Given the description of an element on the screen output the (x, y) to click on. 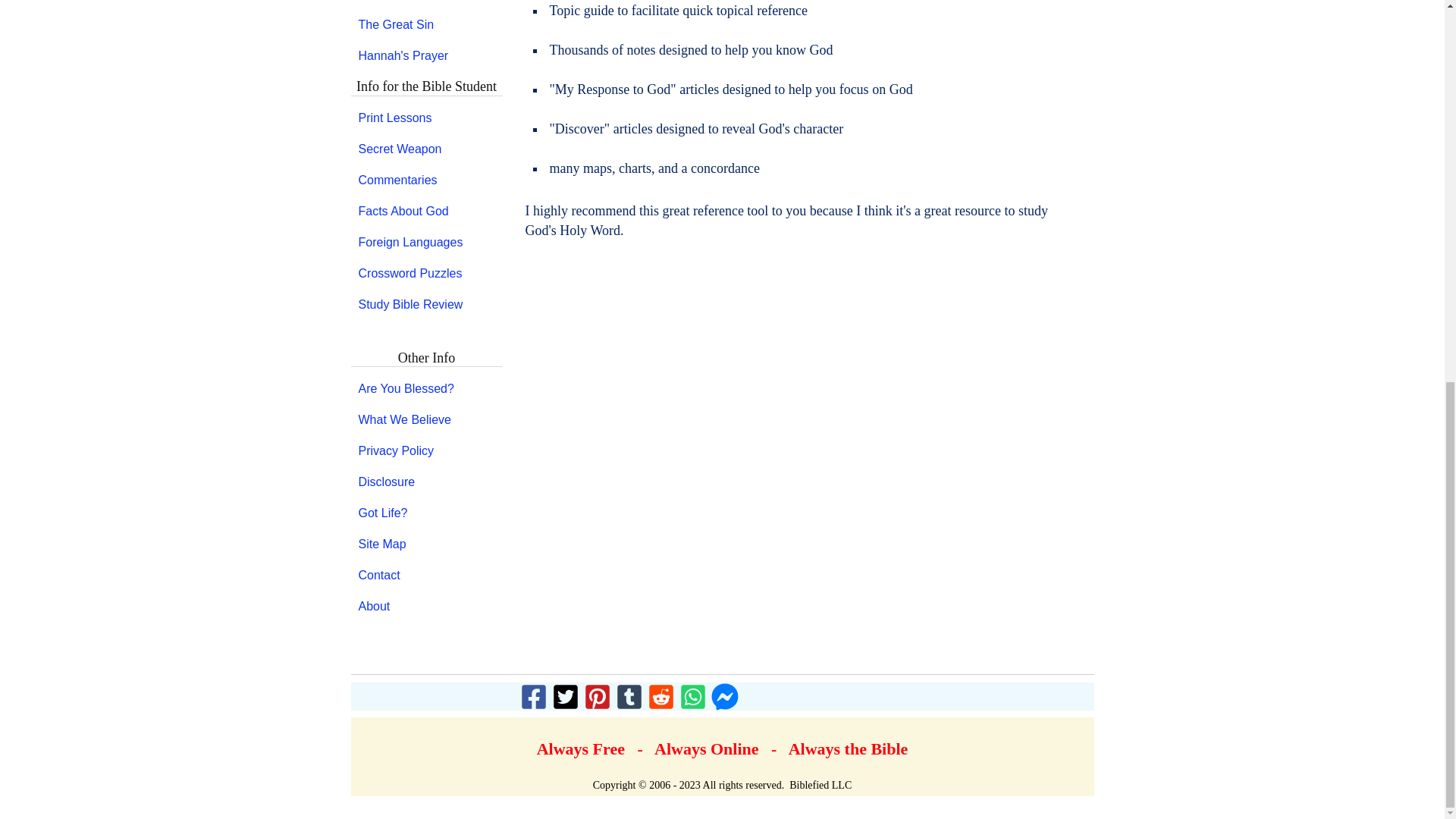
Secret Weapon (426, 148)
Commentaries (426, 180)
The Great Sin (426, 24)
About (426, 606)
Privacy Policy (426, 451)
Hannah's Prayer (426, 55)
Foreign Languages (426, 242)
Site Map (426, 543)
What We Believe (426, 419)
Facts About God (426, 210)
Study Bible Review (426, 304)
Got Life? (426, 512)
Print Lessons (426, 118)
Golden Rule (426, 4)
Are You Blessed? (426, 388)
